Given the description of an element on the screen output the (x, y) to click on. 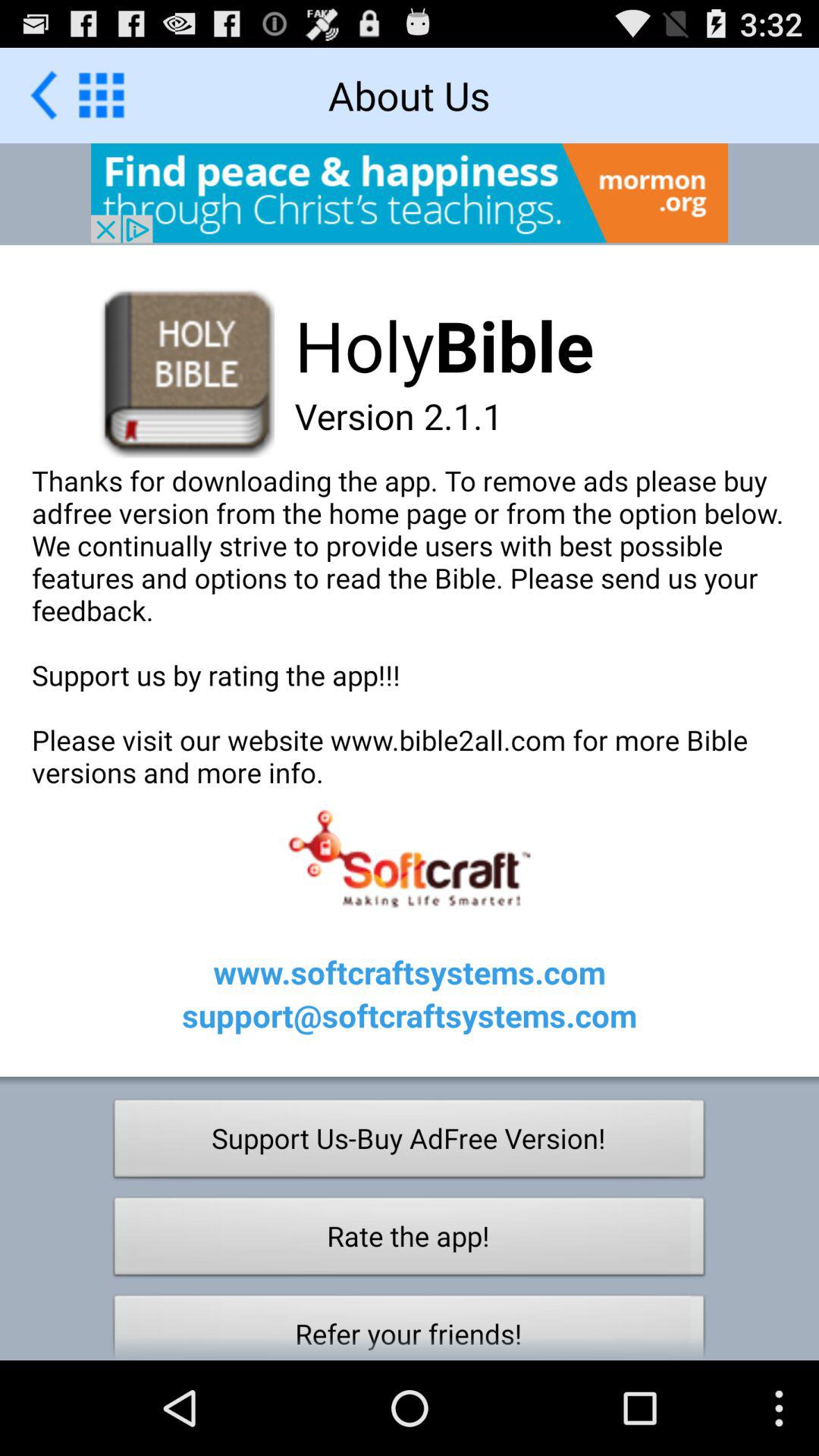
click advertisement (409, 192)
